Given the description of an element on the screen output the (x, y) to click on. 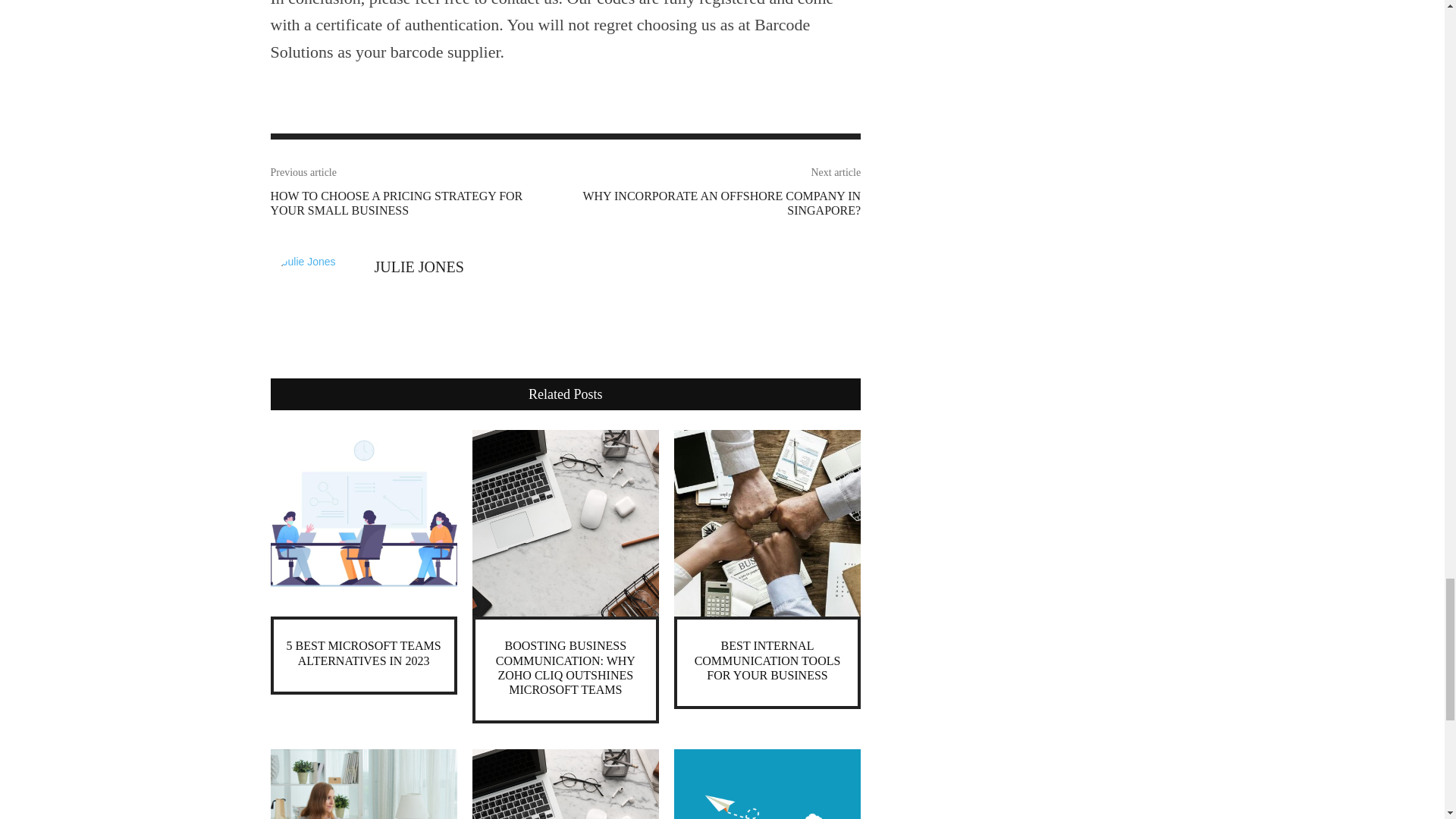
Julie Jones (313, 297)
Best internal communication tools for your business (767, 522)
5 best Microsoft Teams alternatives in 2023 (363, 522)
5 best Microsoft Teams alternatives in 2023 (363, 652)
HOW TO CHOOSE A PRICING STRATEGY FOR YOUR SMALL BUSINESS (395, 203)
